Given the description of an element on the screen output the (x, y) to click on. 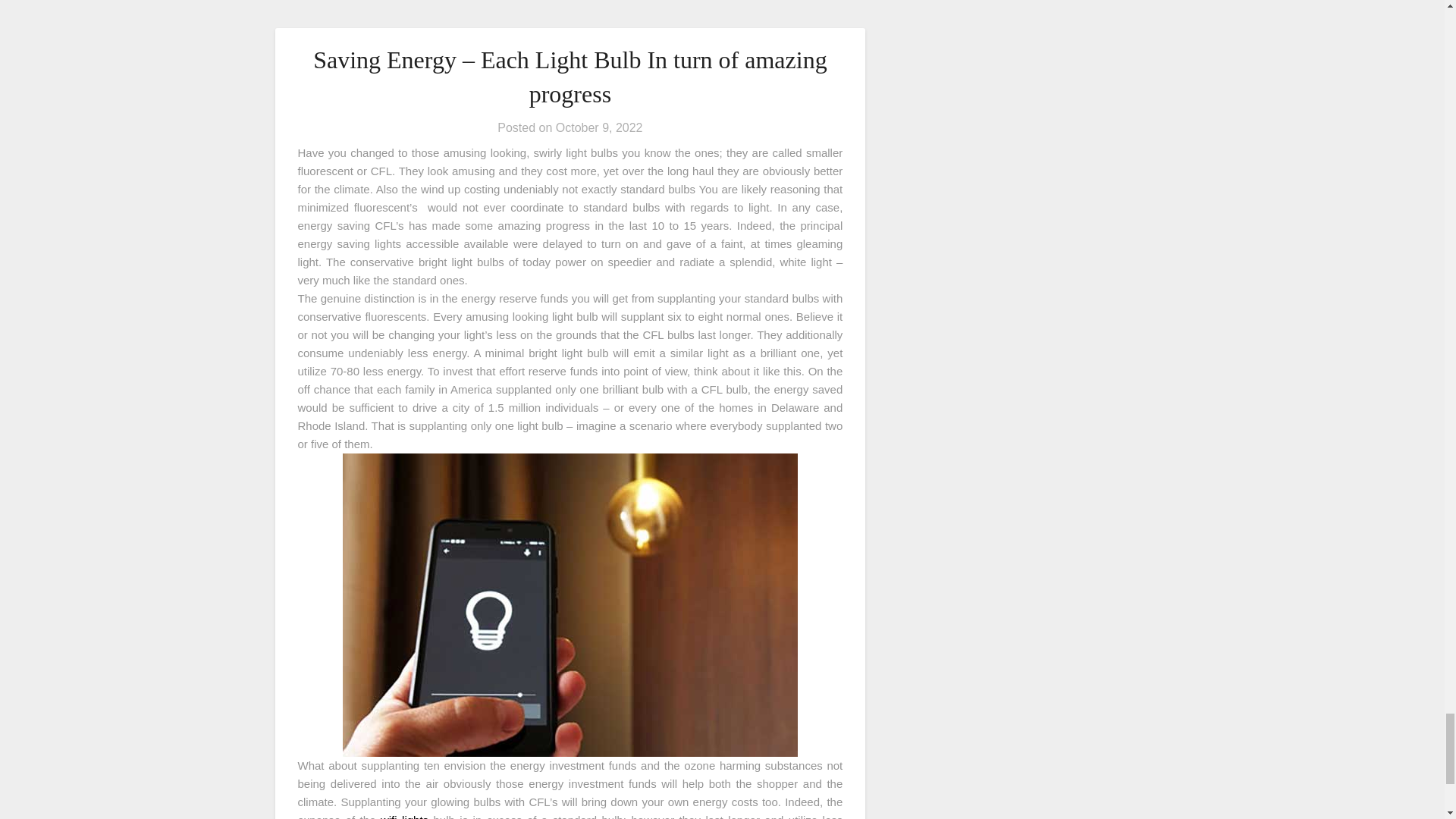
wifi lights (404, 816)
October 9, 2022 (599, 127)
